Given the description of an element on the screen output the (x, y) to click on. 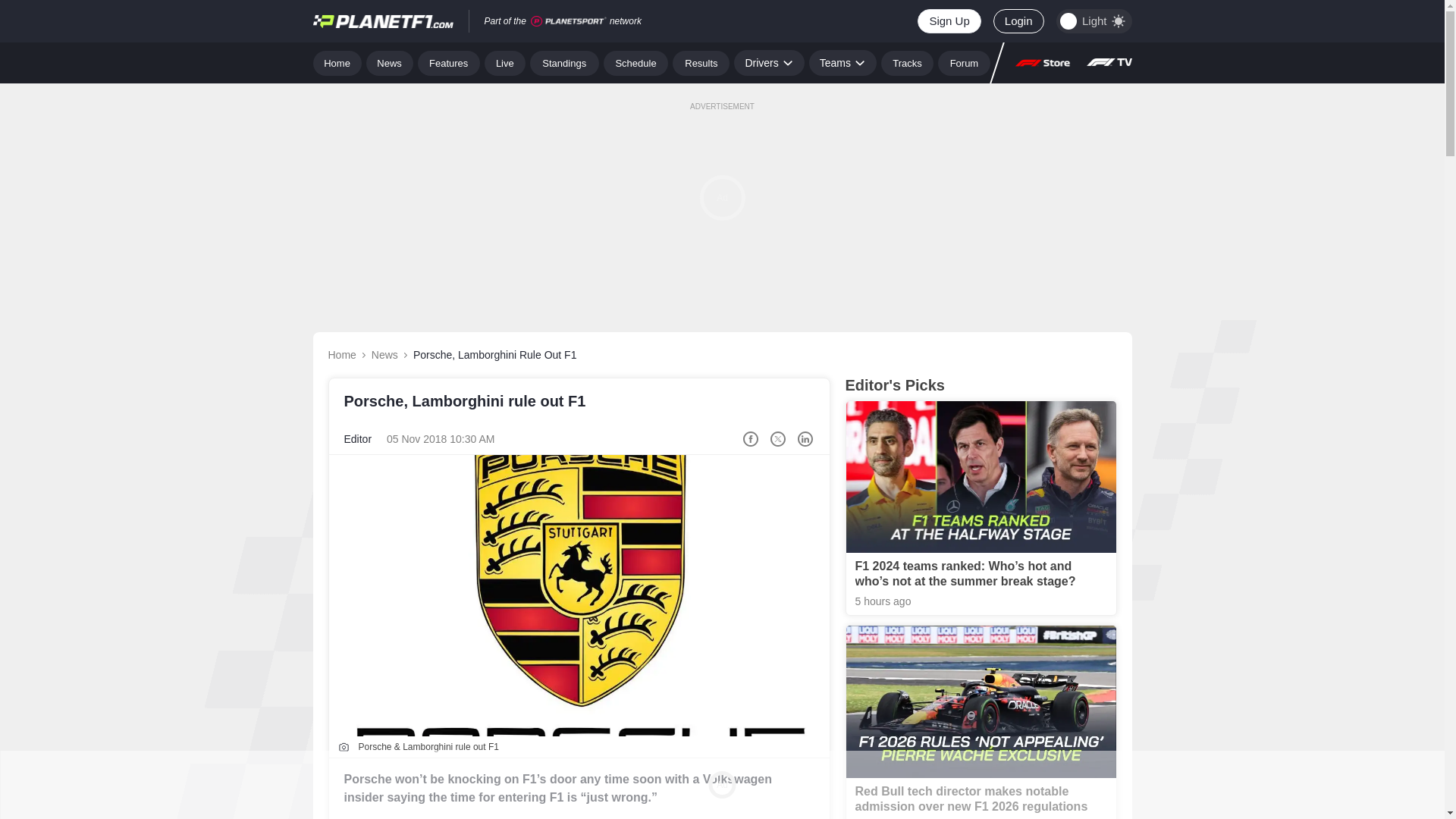
Drivers (768, 62)
Results (700, 62)
Home (337, 62)
Features (448, 62)
Login (1017, 21)
News (389, 62)
Teams (842, 62)
Schedule (636, 62)
Standings (563, 62)
Live (504, 62)
